Given the description of an element on the screen output the (x, y) to click on. 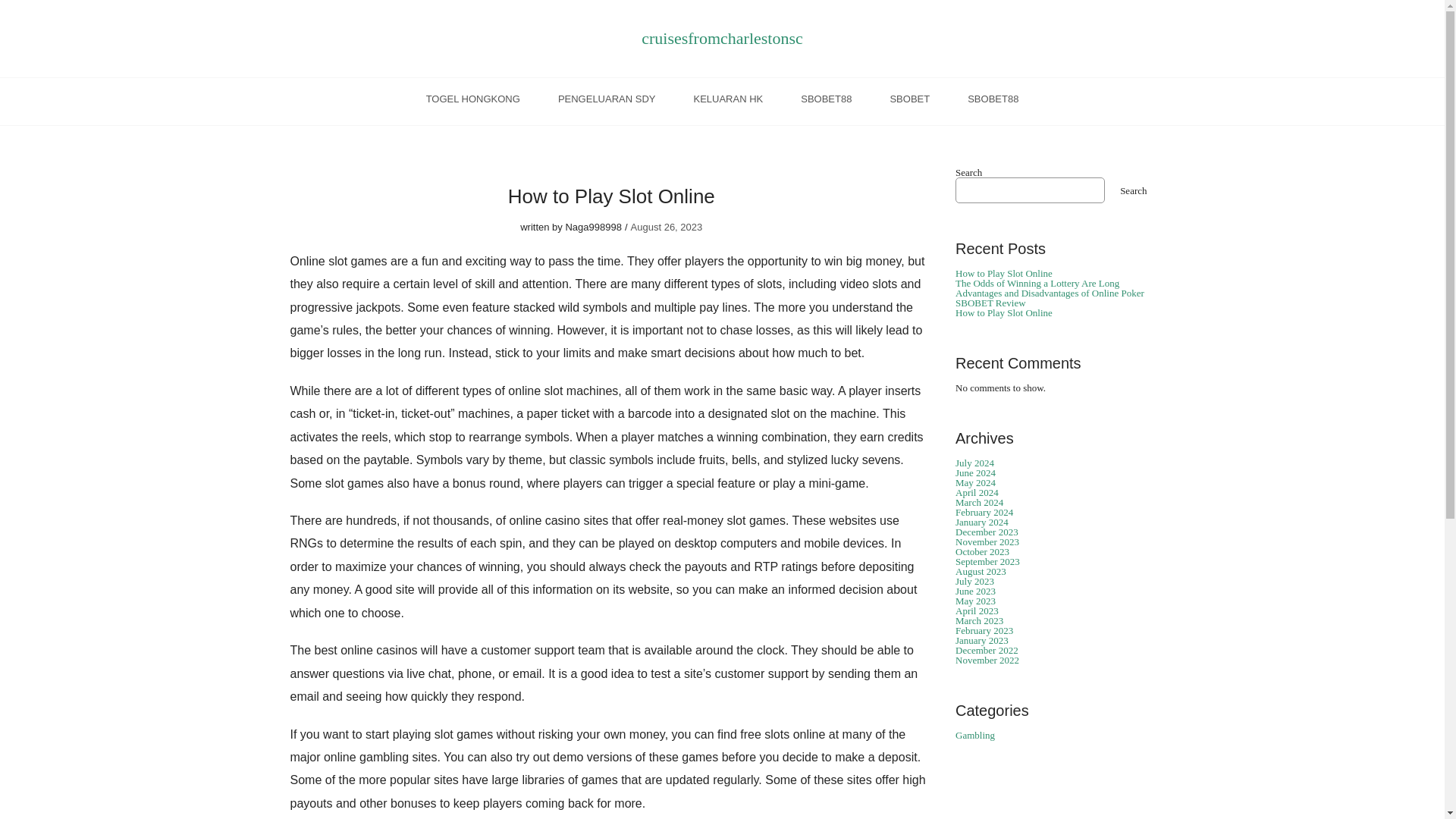
December 2023 (986, 531)
SBOBET88 (825, 101)
October 2023 (982, 551)
Search (1133, 190)
July 2024 (974, 462)
SBOBET88 (992, 101)
September 2023 (987, 561)
SBOBET Review (990, 302)
How to Play Slot Online (1003, 273)
PENGELUARAN SDY (606, 101)
August 26, 2023 (666, 226)
cruisesfromcharlestonsc (722, 38)
February 2024 (984, 511)
March 2024 (979, 501)
January 2023 (982, 640)
